Given the description of an element on the screen output the (x, y) to click on. 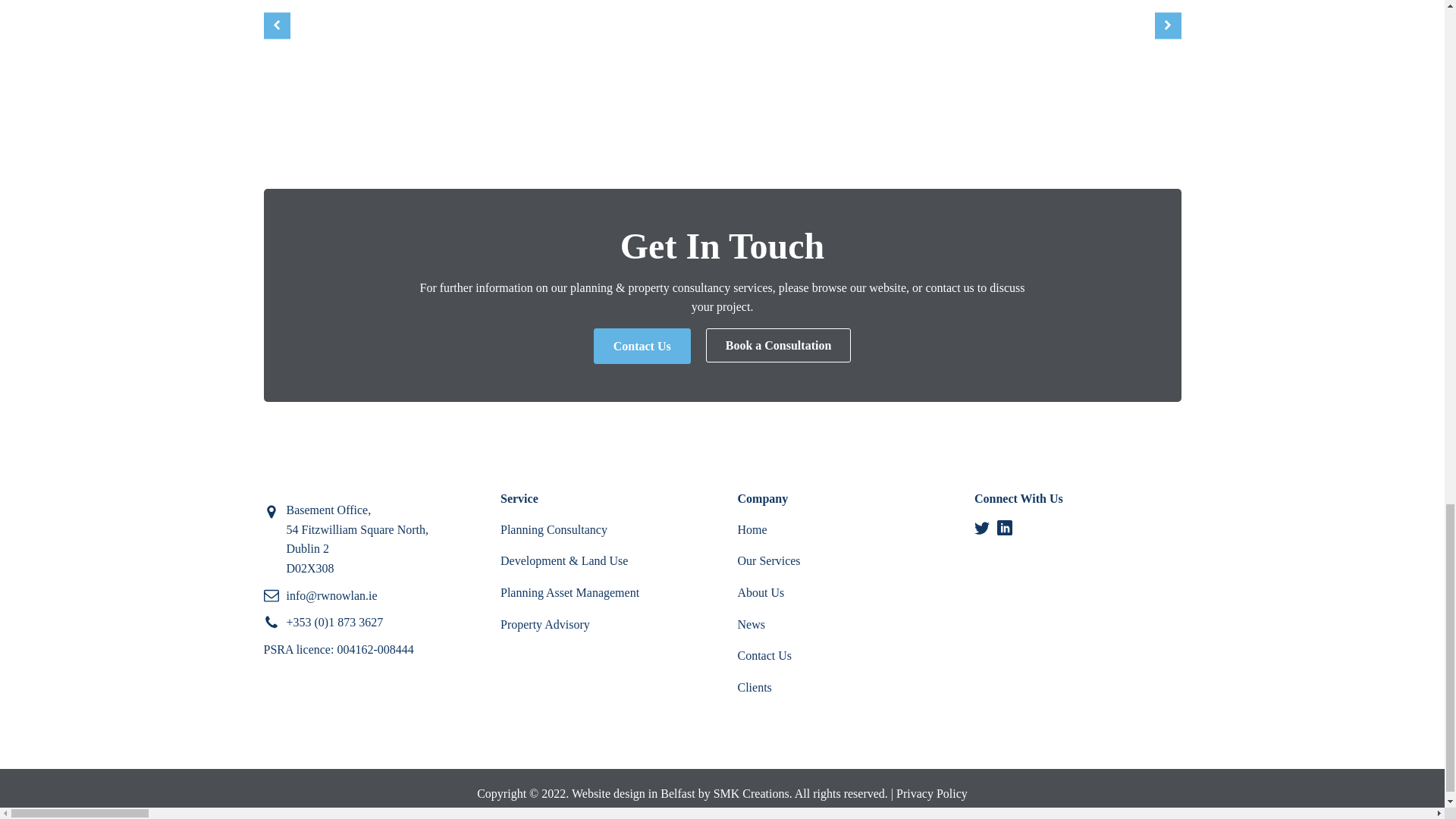
Planning Consultancy (553, 529)
Our Services (767, 560)
Contact Us (642, 346)
Property Advisory (544, 624)
News (750, 624)
Book a Consultation (778, 345)
Planning Asset Management (569, 592)
Home (751, 529)
Contact Us (764, 655)
About Us (760, 592)
